Given the description of an element on the screen output the (x, y) to click on. 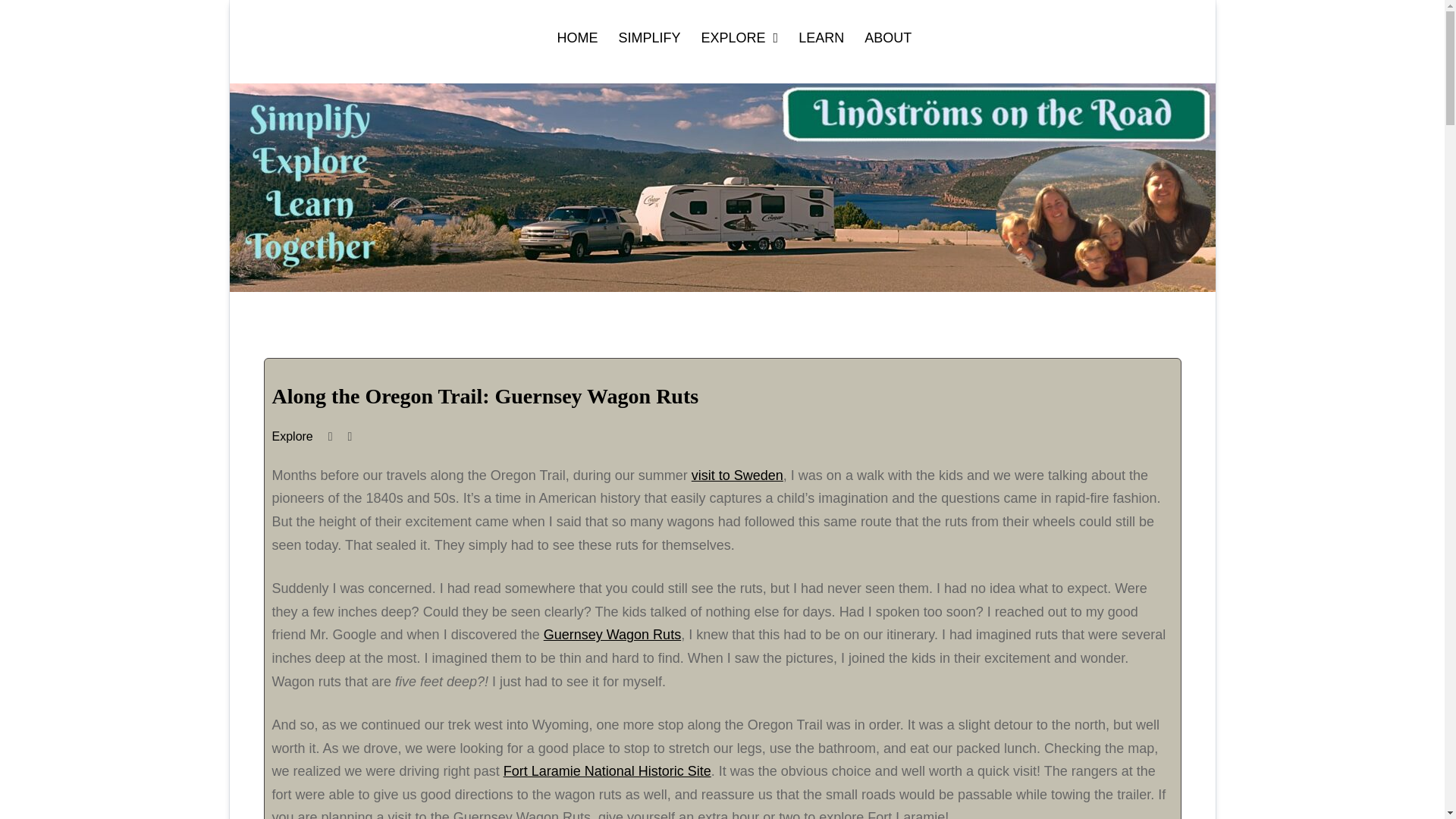
LEARN (820, 37)
Lindstroms On The Road (440, 71)
visit to Sweden (737, 475)
EXPLORE (739, 37)
Explore (291, 436)
SIMPLIFY (649, 37)
HOME (576, 37)
Guernsey Wagon Ruts (612, 634)
Fort Laramie National Historic Site (607, 770)
ABOUT (887, 37)
